Given the description of an element on the screen output the (x, y) to click on. 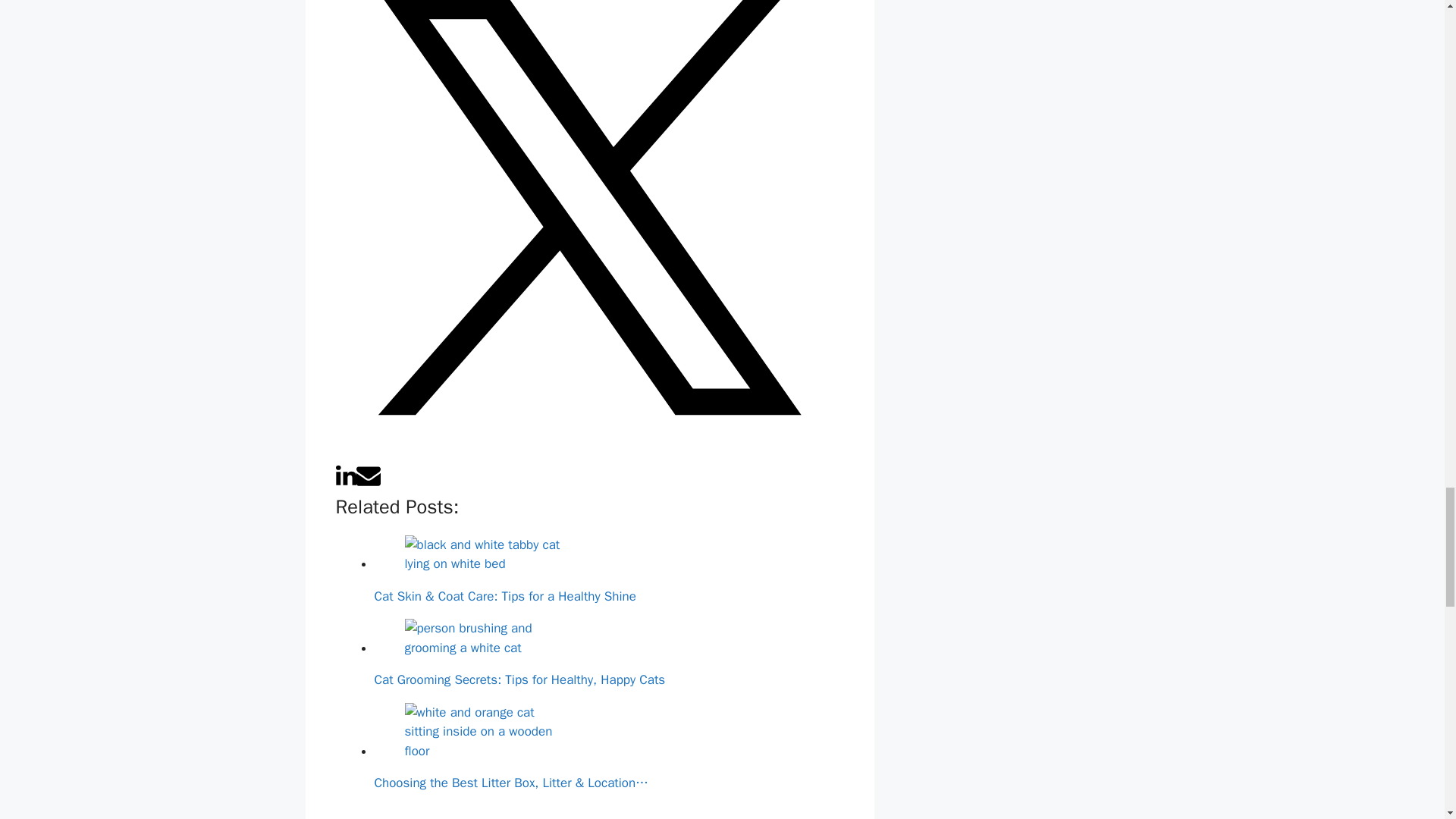
Share via Email (368, 483)
Share on Twitter (588, 453)
Your Cat's First Vet Visit: Essential Guide (488, 812)
Share on LinkedIn (344, 483)
Cat Grooming Secrets: Tips for Healthy, Happy Cats (488, 638)
